Given the description of an element on the screen output the (x, y) to click on. 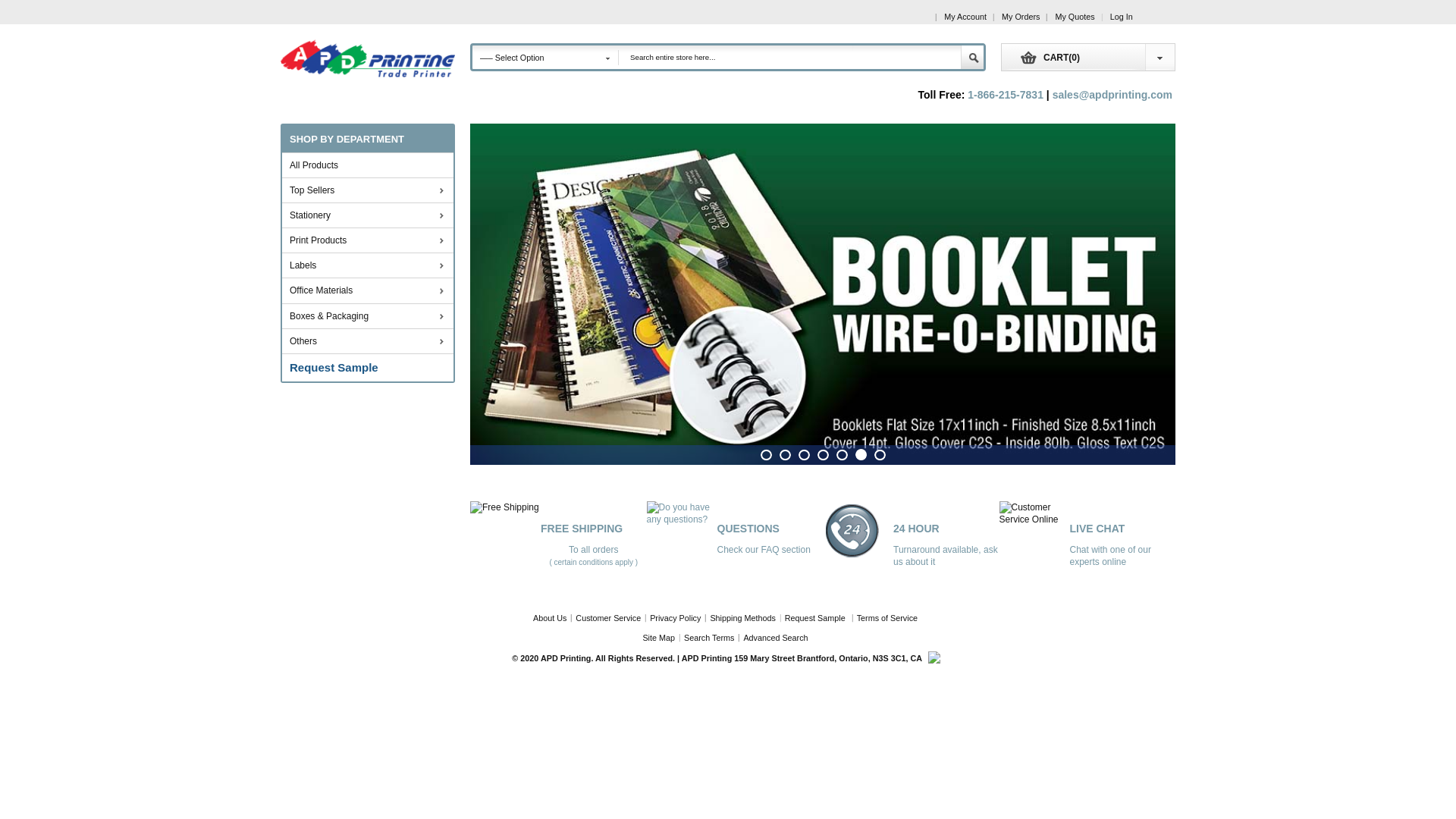
> Element type: text (438, 266)
5 Element type: text (841, 454)
SHOP BY DEPARTMENT Element type: text (367, 138)
> Element type: text (438, 216)
Prev Element type: text (479, 286)
Request Sample Element type: text (367, 367)
> Element type: text (438, 317)
Shipping Methods Element type: text (743, 617)
> Element type: text (438, 191)
Site Map Element type: text (661, 637)
1-866-215-7831 Element type: text (1005, 94)
Check our FAQ section Element type: text (763, 549)
About Us Element type: text (552, 617)
CART(0) Element type: text (1040, 64)
Print Products Element type: text (361, 240)
4 Element type: text (822, 454)
My Account Element type: text (965, 16)
My Orders Element type: text (1020, 16)
2 Element type: text (784, 454)
Labels Element type: text (361, 265)
Stationery Element type: text (361, 215)
3 Element type: text (803, 454)
Office Materials Element type: text (361, 290)
> Element type: text (438, 342)
7 Element type: text (878, 454)
QUESTIONS Element type: text (748, 528)
Terms of Service Element type: text (887, 617)
6 Element type: text (860, 454)
Boxes & Packaging Element type: text (361, 316)
Customer Service Element type: text (608, 617)
Advanced Search Element type: text (775, 637)
Search Terms Element type: text (709, 637)
All Products Element type: text (367, 165)
> Element type: text (438, 291)
SEARCH Element type: text (971, 57)
1 Element type: text (765, 454)
sales@apdprinting.com Element type: text (1112, 94)
APD Printing Element type: hover (367, 58)
Log In Element type: text (1121, 16)
Next Element type: text (1166, 286)
Others Element type: text (361, 341)
Top Sellers Element type: text (361, 190)
My Quotes Element type: text (1074, 16)
Request Sample Element type: text (817, 617)
> Element type: text (438, 241)
Privacy Policy Element type: text (676, 617)
